Given the description of an element on the screen output the (x, y) to click on. 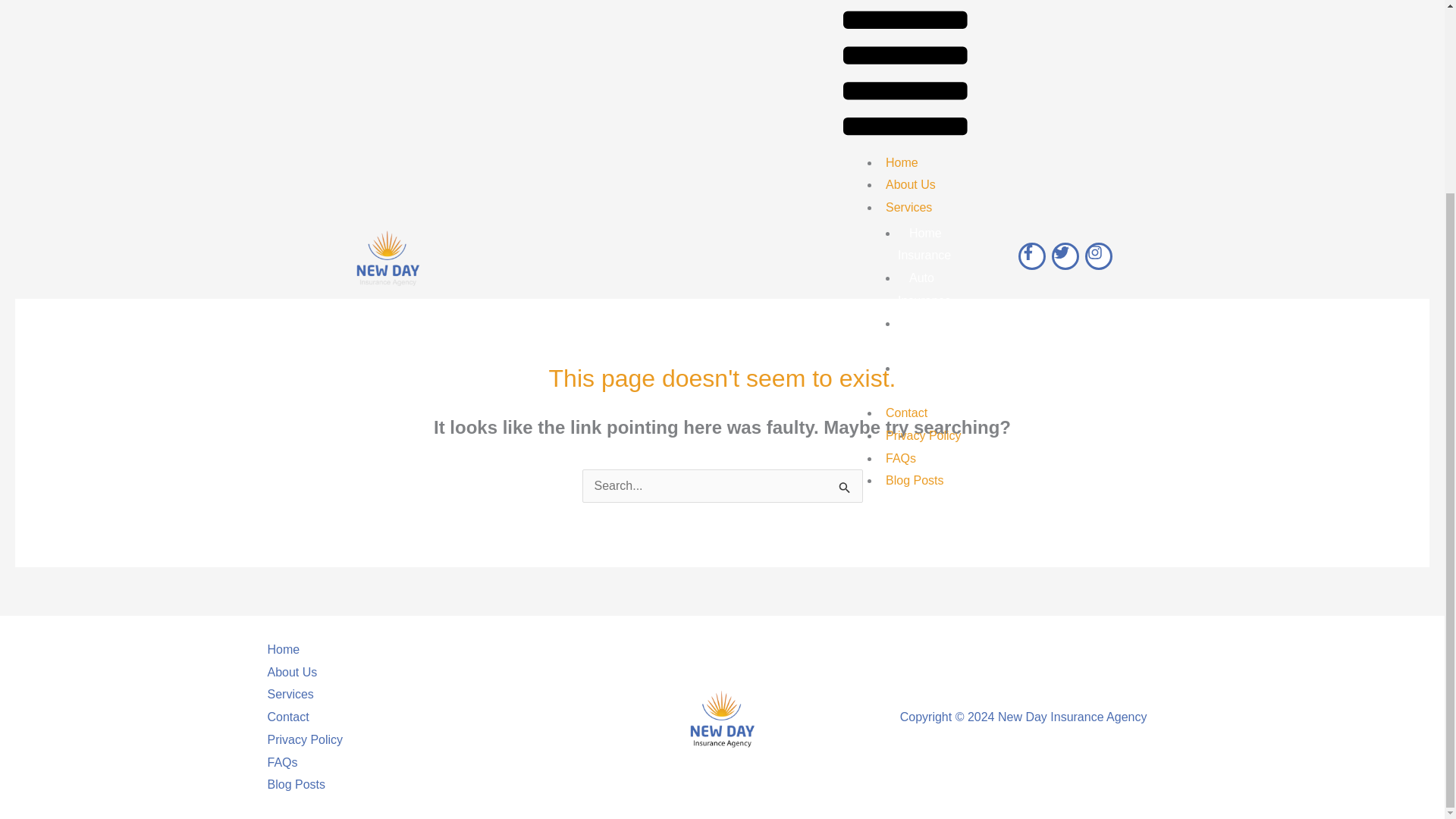
Recreational Vehicle (937, 136)
Privacy Policy (309, 739)
Privacy Policy (923, 192)
Instagram (1098, 13)
Home (288, 649)
Facebook-f (1031, 13)
Contact (293, 716)
Twitter (1064, 13)
FAQs (900, 215)
Home Insurance (930, 12)
About Us (297, 671)
Auto Insurance (930, 46)
Blog Posts (914, 237)
Contact (906, 169)
Services (295, 694)
